Given the description of an element on the screen output the (x, y) to click on. 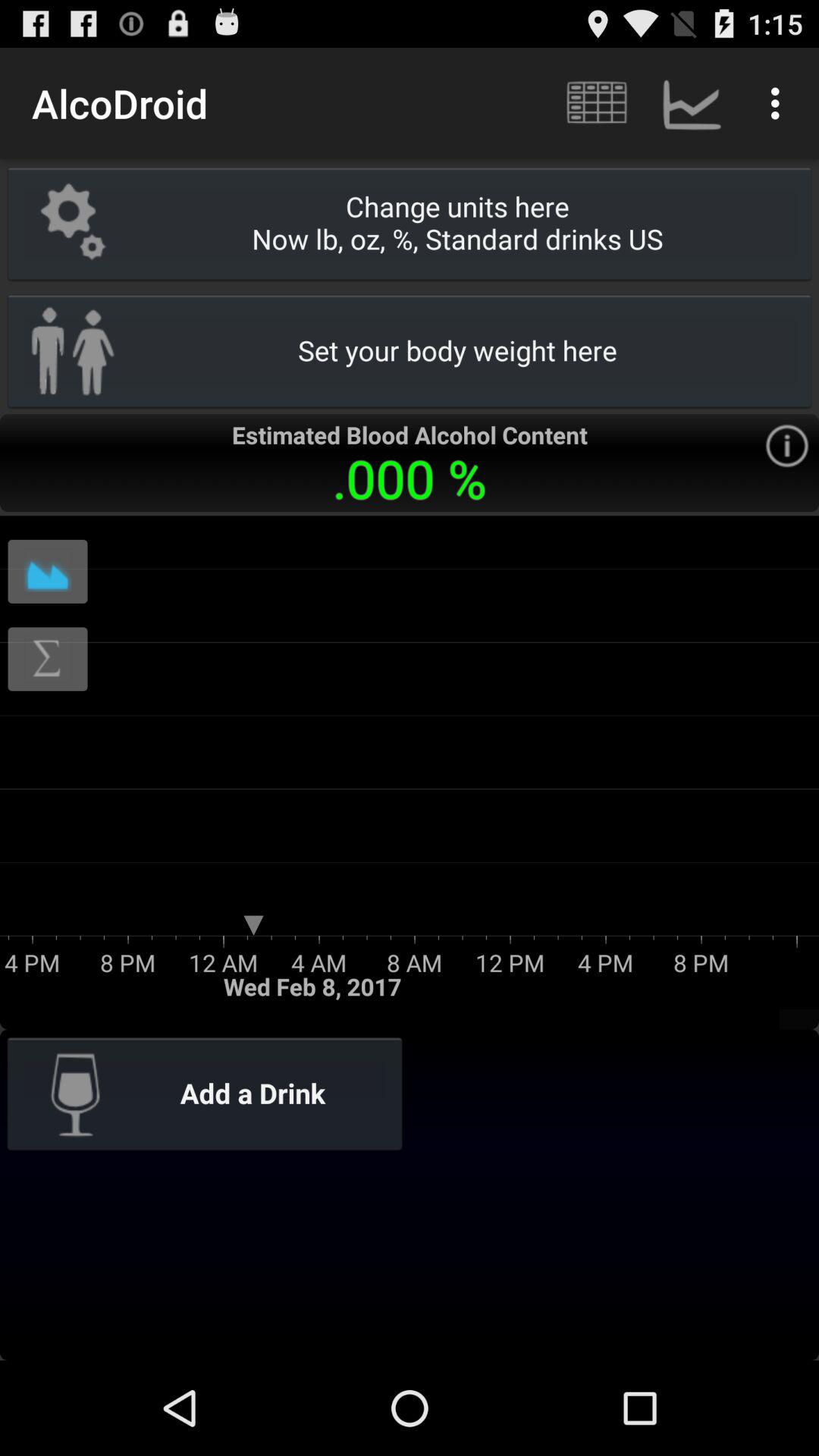
click on the icon to the right side of 000 (787, 446)
the first icon right to alcodroid at the top of the page (595, 103)
